Given the description of an element on the screen output the (x, y) to click on. 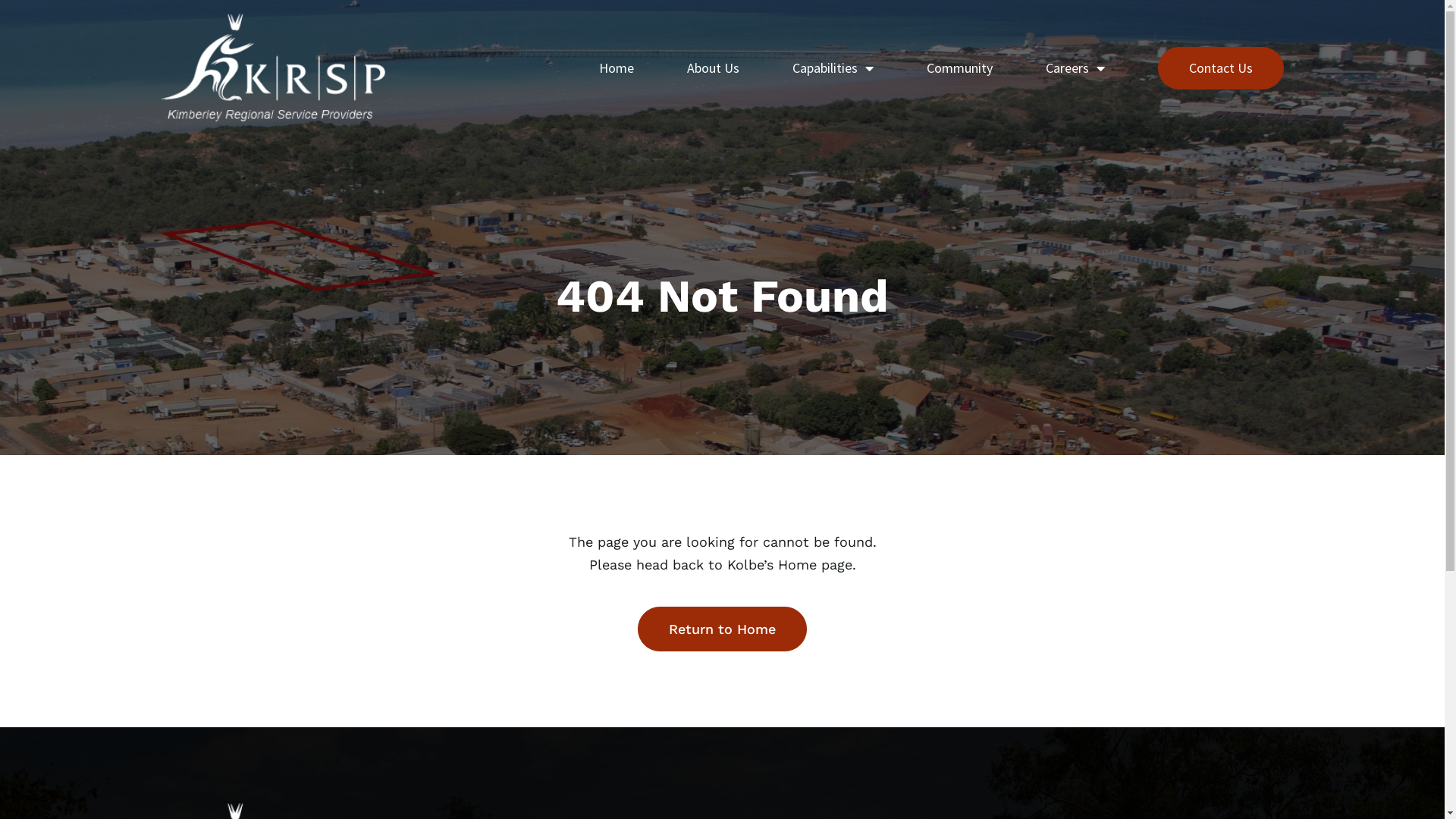
Careers Element type: text (1074, 68)
Capabilities Element type: text (831, 68)
Contact Us Element type: text (1220, 68)
About Us Element type: text (713, 68)
Return to Home Element type: text (721, 628)
Home Element type: text (616, 68)
Community Element type: text (959, 68)
